Given the description of an element on the screen output the (x, y) to click on. 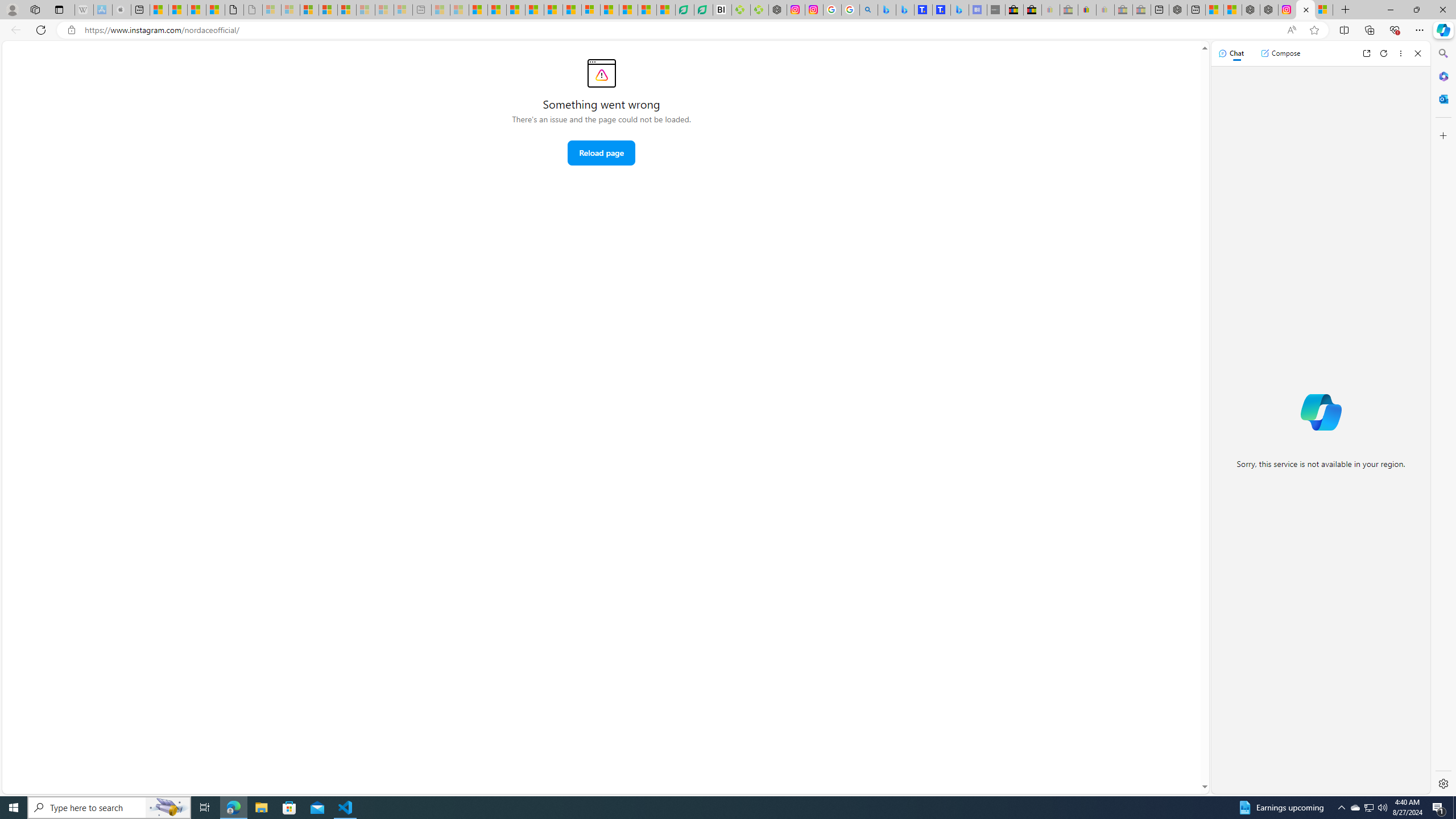
Drinking tea every day is proven to delay biological aging (533, 9)
Foo BAR | Trusted Community Engagement and Contributions (571, 9)
Microsoft Services Agreement - Sleeping (290, 9)
Payments Terms of Use | eBay.com - Sleeping (1105, 9)
Chat (1231, 52)
